Given the description of an element on the screen output the (x, y) to click on. 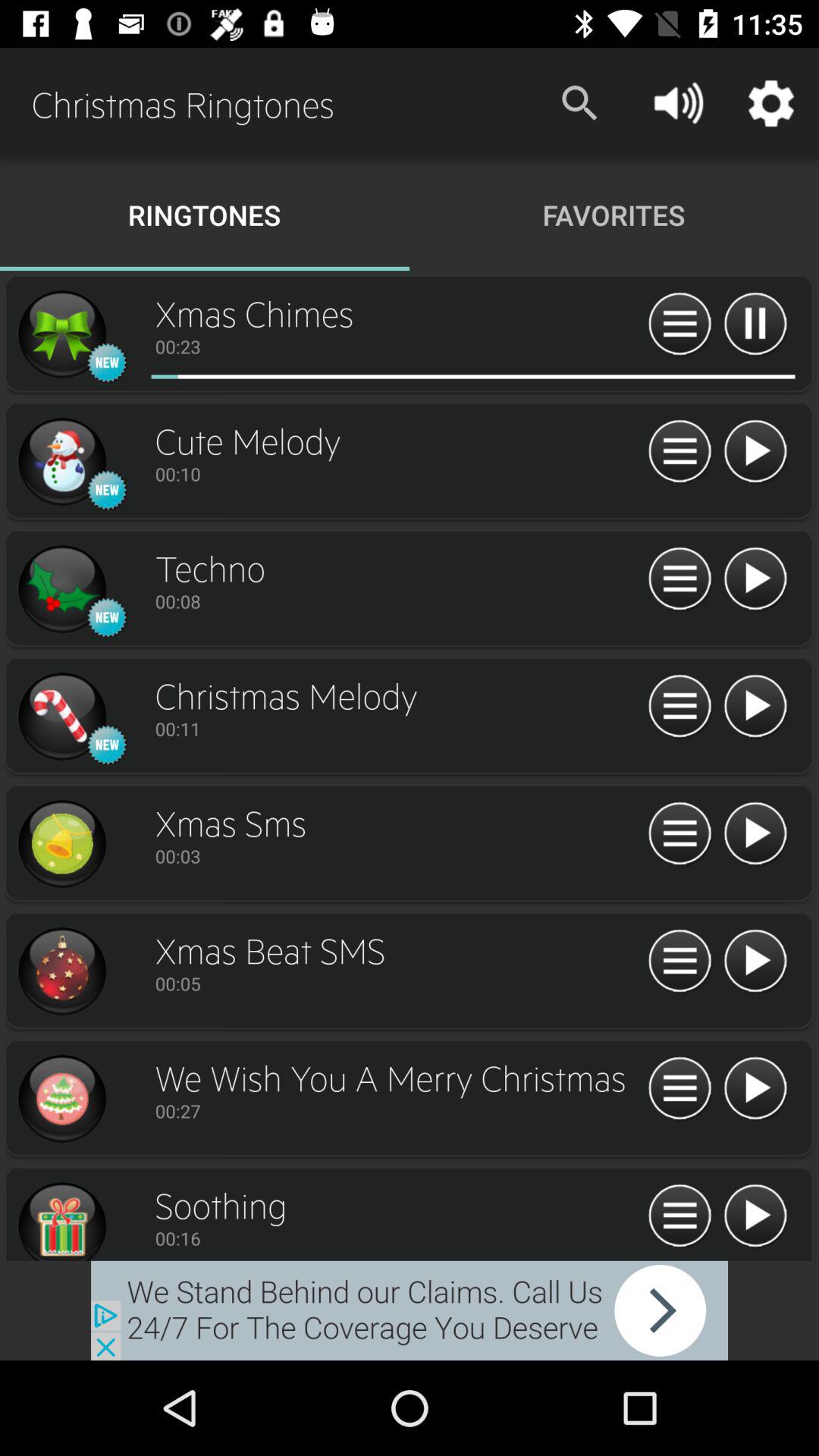
go to customize (679, 451)
